Given the description of an element on the screen output the (x, y) to click on. 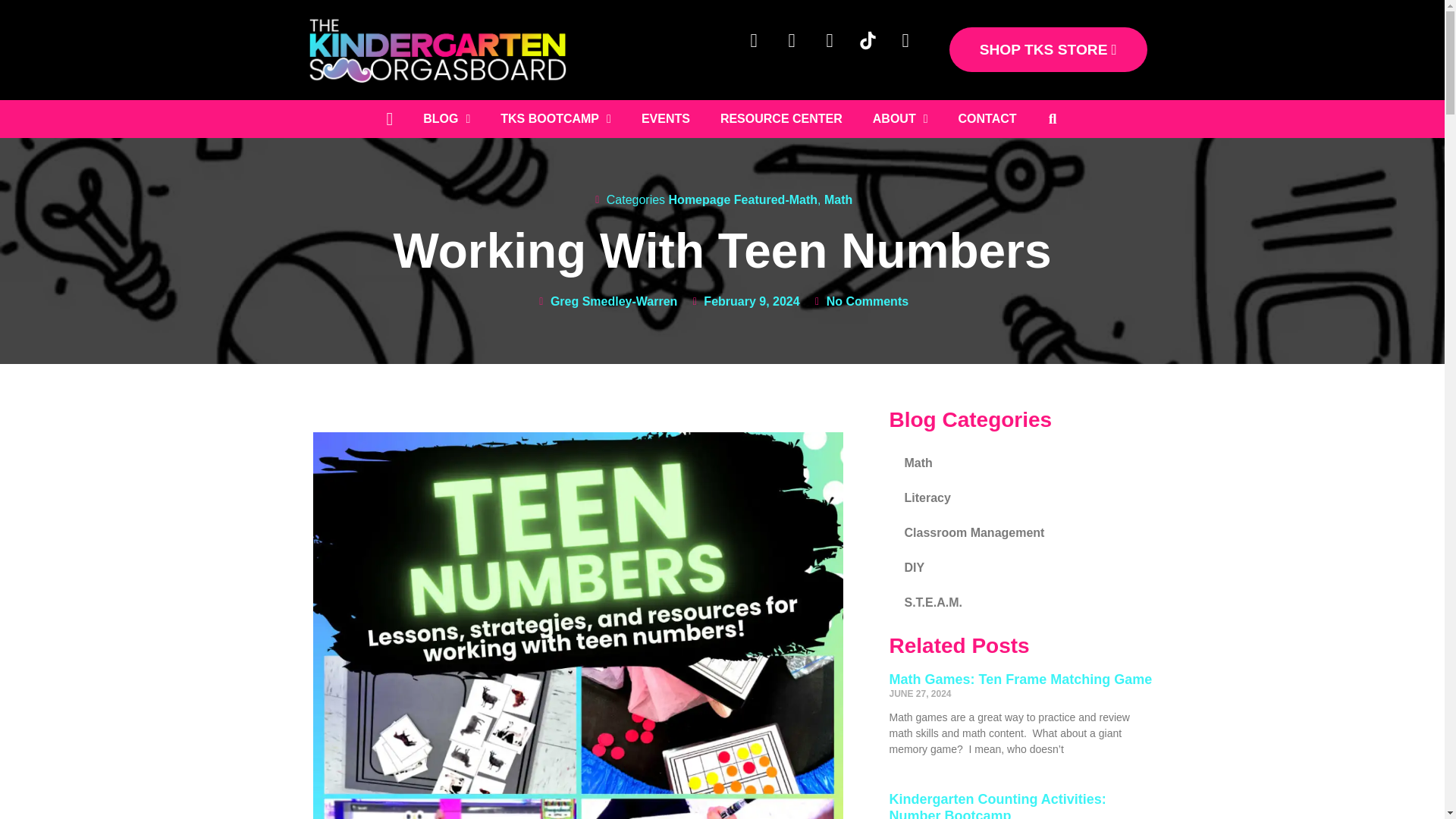
TKS BOOTCAMP (555, 118)
CONTACT (987, 118)
EVENTS (665, 118)
ABOUT (900, 118)
BLOG (445, 118)
SHOP TKS STORE (1048, 49)
RESOURCE CENTER (780, 118)
